Given the description of an element on the screen output the (x, y) to click on. 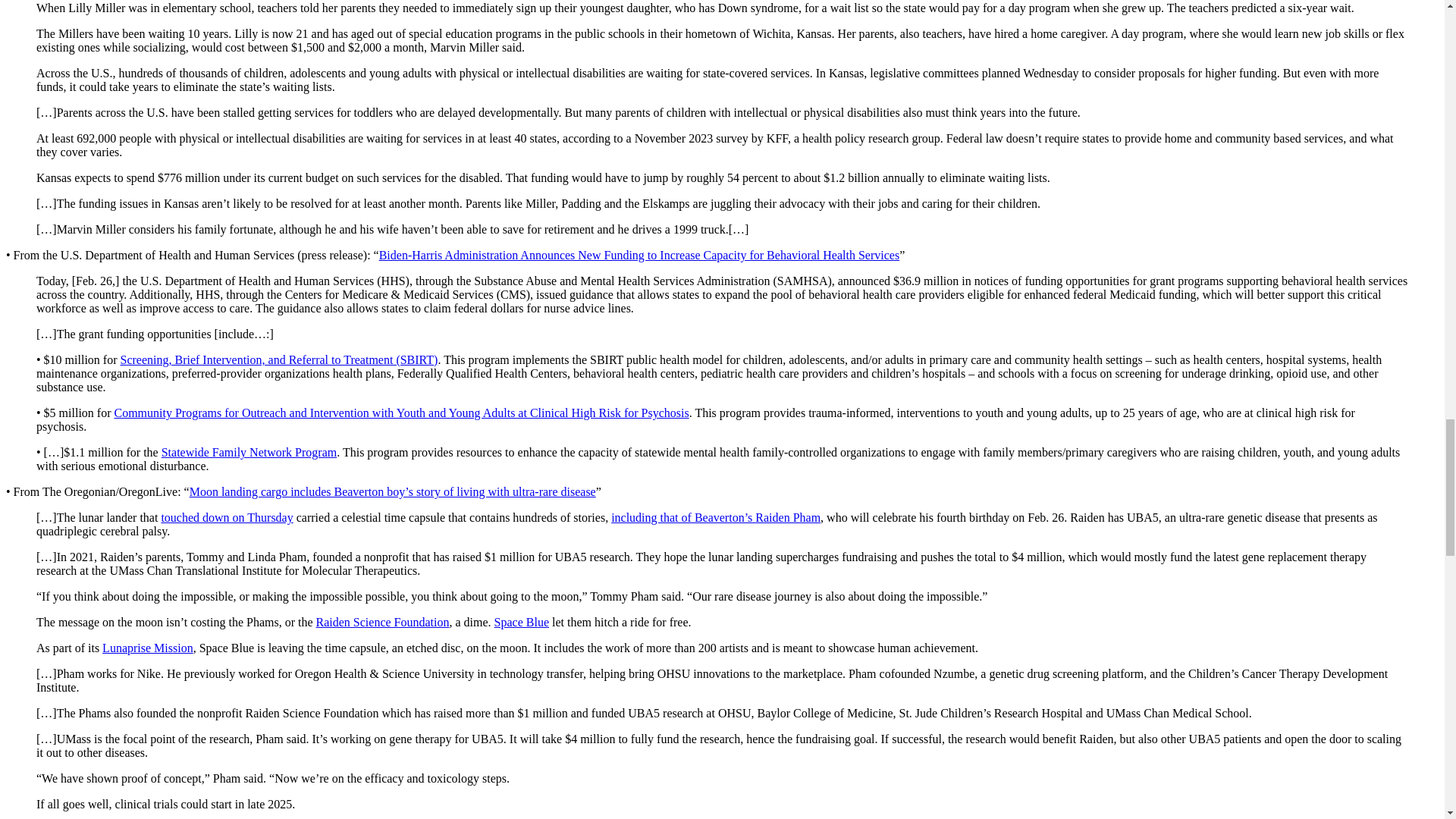
Statewide Family Network Program (249, 451)
Raiden Science Foundation (382, 621)
Lunaprise Mission (147, 647)
touched down on Thursday (226, 517)
Space Blue (521, 621)
